Given the description of an element on the screen output the (x, y) to click on. 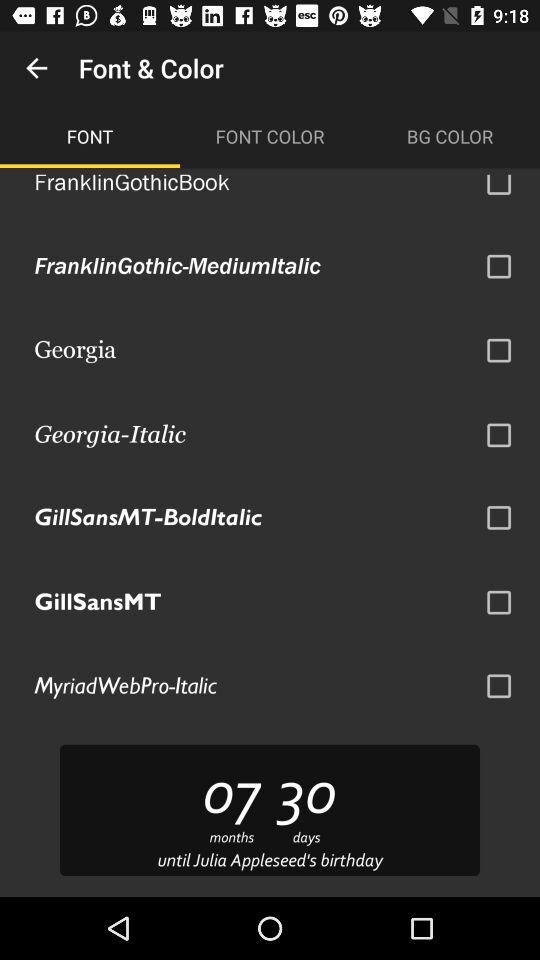
turn off the item to the right of the font color icon (450, 136)
